Given the description of an element on the screen output the (x, y) to click on. 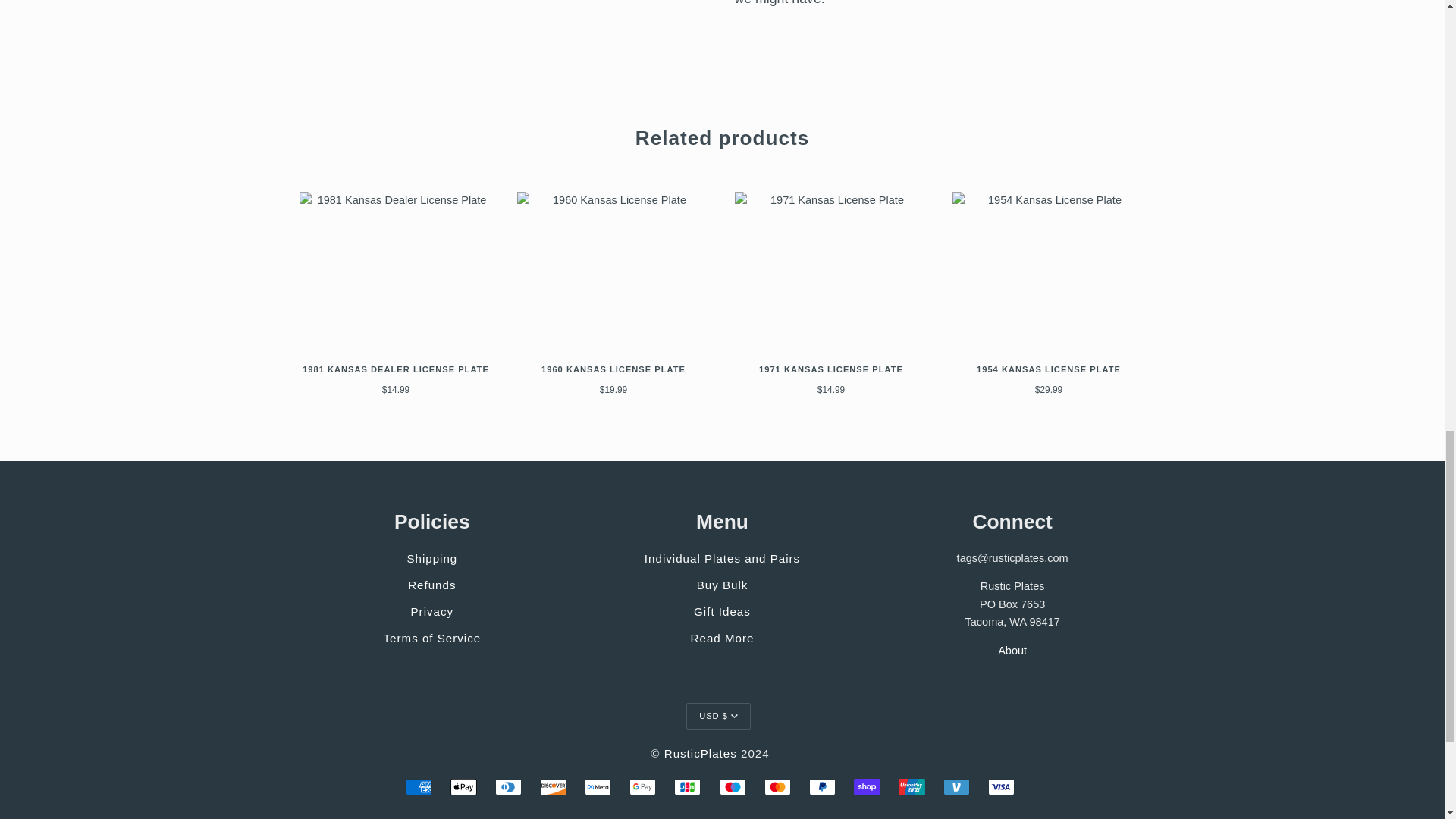
JCB (687, 786)
AMERICAN EXPRESS (419, 786)
SHOP PAY (866, 786)
MAESTRO (732, 786)
GOOGLE PAY (642, 786)
VISA (1001, 786)
UNION PAY (911, 786)
META PAY (598, 786)
APPLE PAY (463, 786)
DISCOVER (553, 786)
PAYPAL (822, 786)
DINERS CLUB (508, 786)
VENMO (956, 786)
MASTERCARD (777, 786)
About (1011, 650)
